Given the description of an element on the screen output the (x, y) to click on. 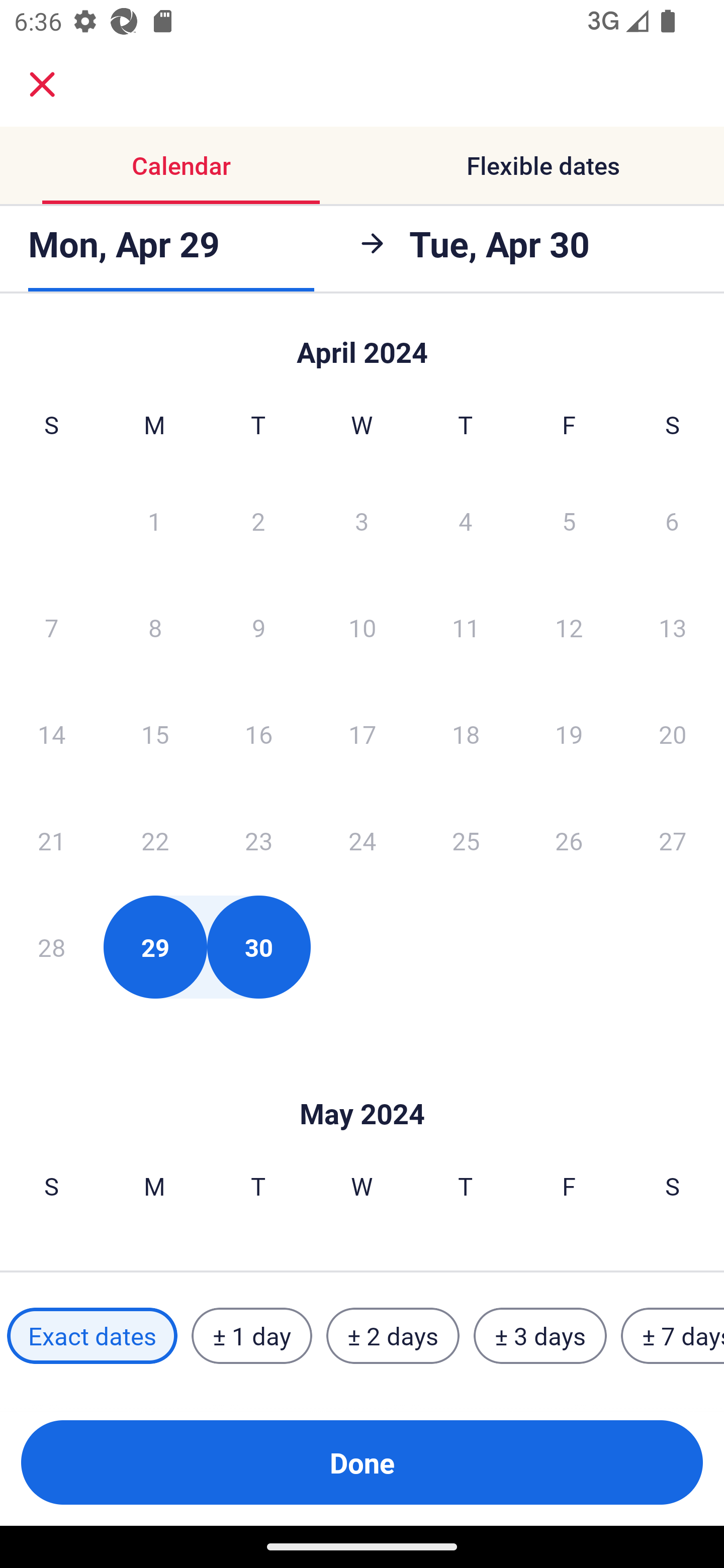
close. (42, 84)
Flexible dates (542, 164)
Skip to Done (362, 343)
1 Monday, April 1, 2024 (154, 520)
2 Tuesday, April 2, 2024 (257, 520)
3 Wednesday, April 3, 2024 (361, 520)
4 Thursday, April 4, 2024 (465, 520)
5 Friday, April 5, 2024 (568, 520)
6 Saturday, April 6, 2024 (672, 520)
7 Sunday, April 7, 2024 (51, 626)
8 Monday, April 8, 2024 (155, 626)
9 Tuesday, April 9, 2024 (258, 626)
10 Wednesday, April 10, 2024 (362, 626)
11 Thursday, April 11, 2024 (465, 626)
12 Friday, April 12, 2024 (569, 626)
13 Saturday, April 13, 2024 (672, 626)
14 Sunday, April 14, 2024 (51, 733)
15 Monday, April 15, 2024 (155, 733)
16 Tuesday, April 16, 2024 (258, 733)
17 Wednesday, April 17, 2024 (362, 733)
18 Thursday, April 18, 2024 (465, 733)
19 Friday, April 19, 2024 (569, 733)
20 Saturday, April 20, 2024 (672, 733)
21 Sunday, April 21, 2024 (51, 840)
22 Monday, April 22, 2024 (155, 840)
23 Tuesday, April 23, 2024 (258, 840)
24 Wednesday, April 24, 2024 (362, 840)
25 Thursday, April 25, 2024 (465, 840)
26 Friday, April 26, 2024 (569, 840)
27 Saturday, April 27, 2024 (672, 840)
28 Sunday, April 28, 2024 (51, 946)
Skip to Done (362, 1083)
Exact dates (92, 1335)
± 1 day (251, 1335)
± 2 days (392, 1335)
± 3 days (539, 1335)
± 7 days (672, 1335)
Done (361, 1462)
